Given the description of an element on the screen output the (x, y) to click on. 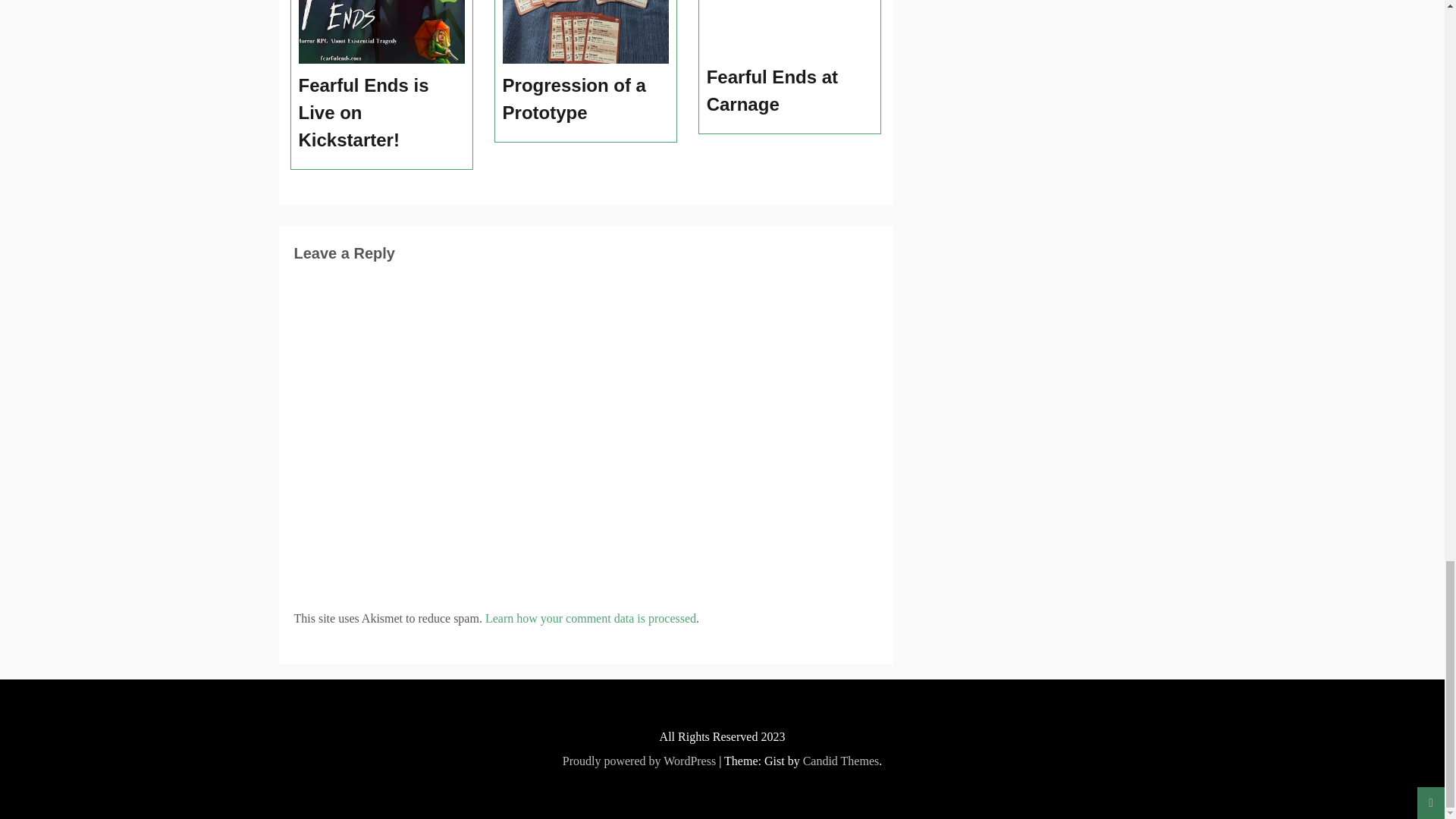
Fearful Ends is Live on Kickstarter! (381, 112)
Fearful Ends at Carnage (789, 90)
Learn how your comment data is processed (589, 617)
Progression of a Prototype (585, 99)
